Given the description of an element on the screen output the (x, y) to click on. 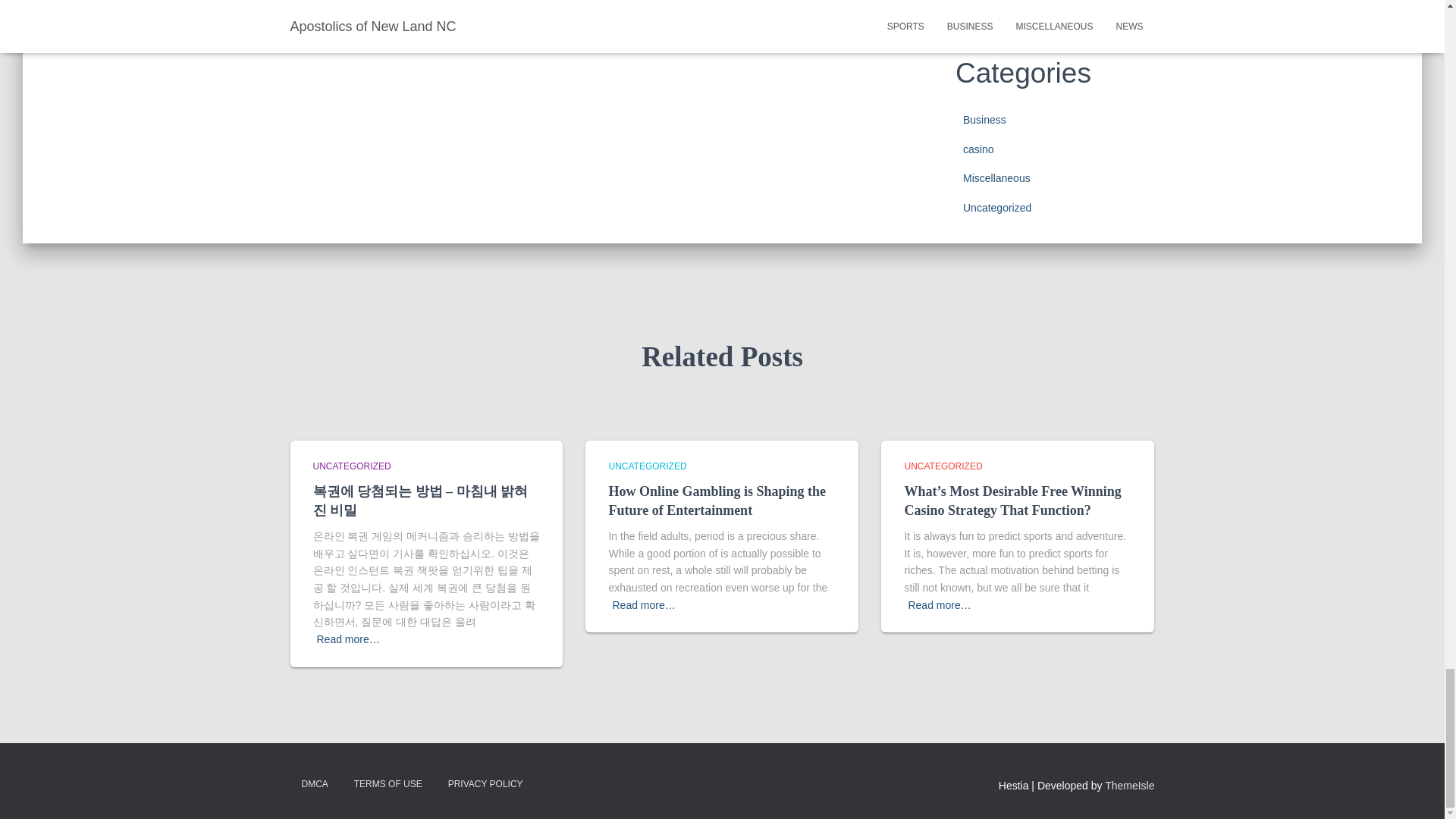
How Online Gambling is Shaping the Future of Entertainment (716, 500)
View all posts in Uncategorized (942, 466)
View all posts in Uncategorized (351, 466)
View all posts in Uncategorized (646, 466)
